Given the description of an element on the screen output the (x, y) to click on. 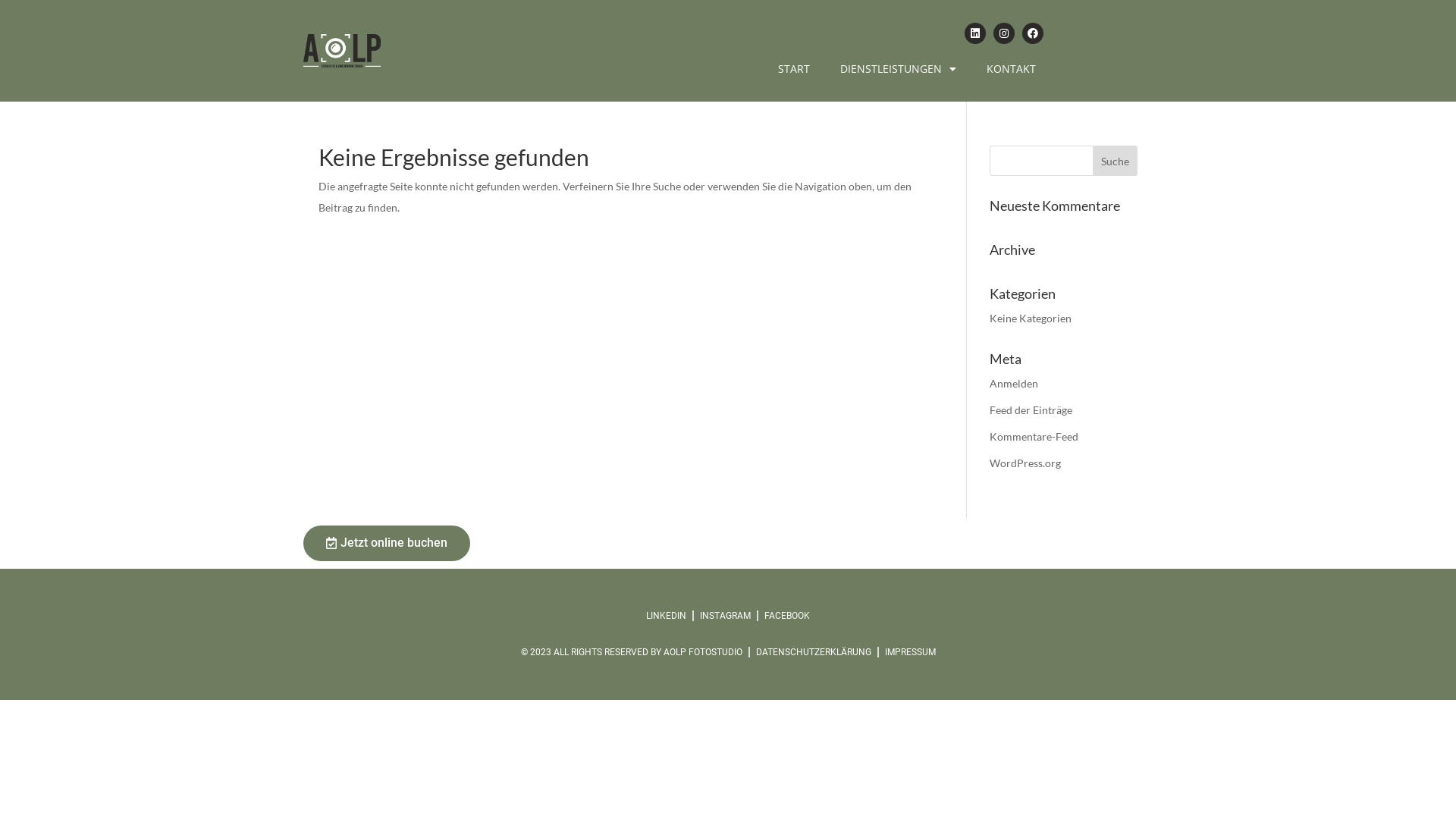
Kommentare-Feed Element type: text (1033, 435)
KONTAKT Element type: text (1011, 68)
Anmelden Element type: text (1013, 382)
Jetzt online buchen Element type: text (386, 543)
START Element type: text (793, 68)
Suche Element type: text (1114, 160)
INSTAGRAM Element type: text (724, 615)
WordPress.org Element type: text (1024, 462)
DIENSTLEISTUNGEN Element type: text (898, 68)
FACEBOOK Element type: text (786, 615)
IMPRESSUM Element type: text (909, 651)
LINKEDIN Element type: text (666, 615)
